Given the description of an element on the screen output the (x, y) to click on. 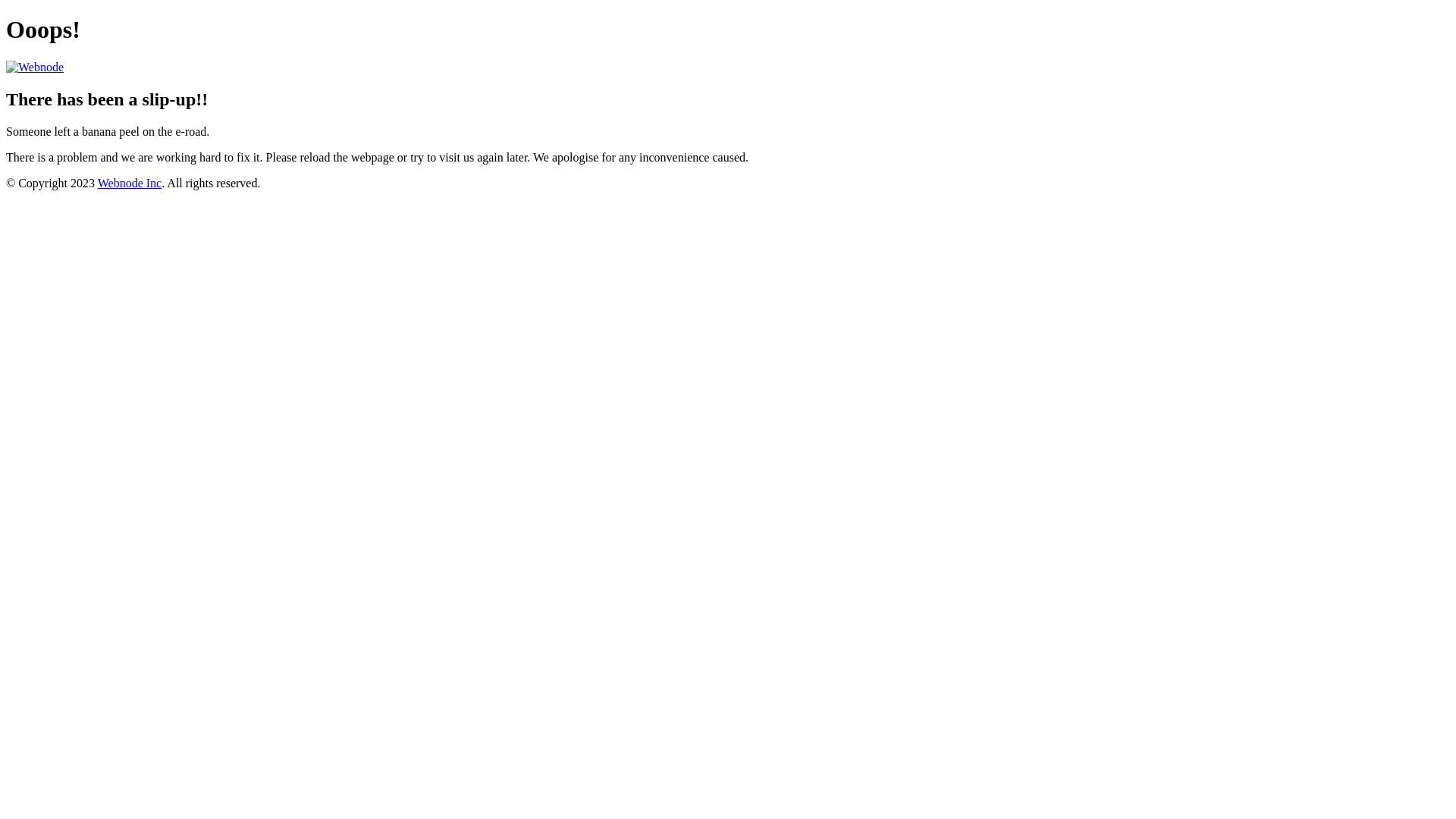
Webnode Inc Element type: text (129, 182)
